Given the description of an element on the screen output the (x, y) to click on. 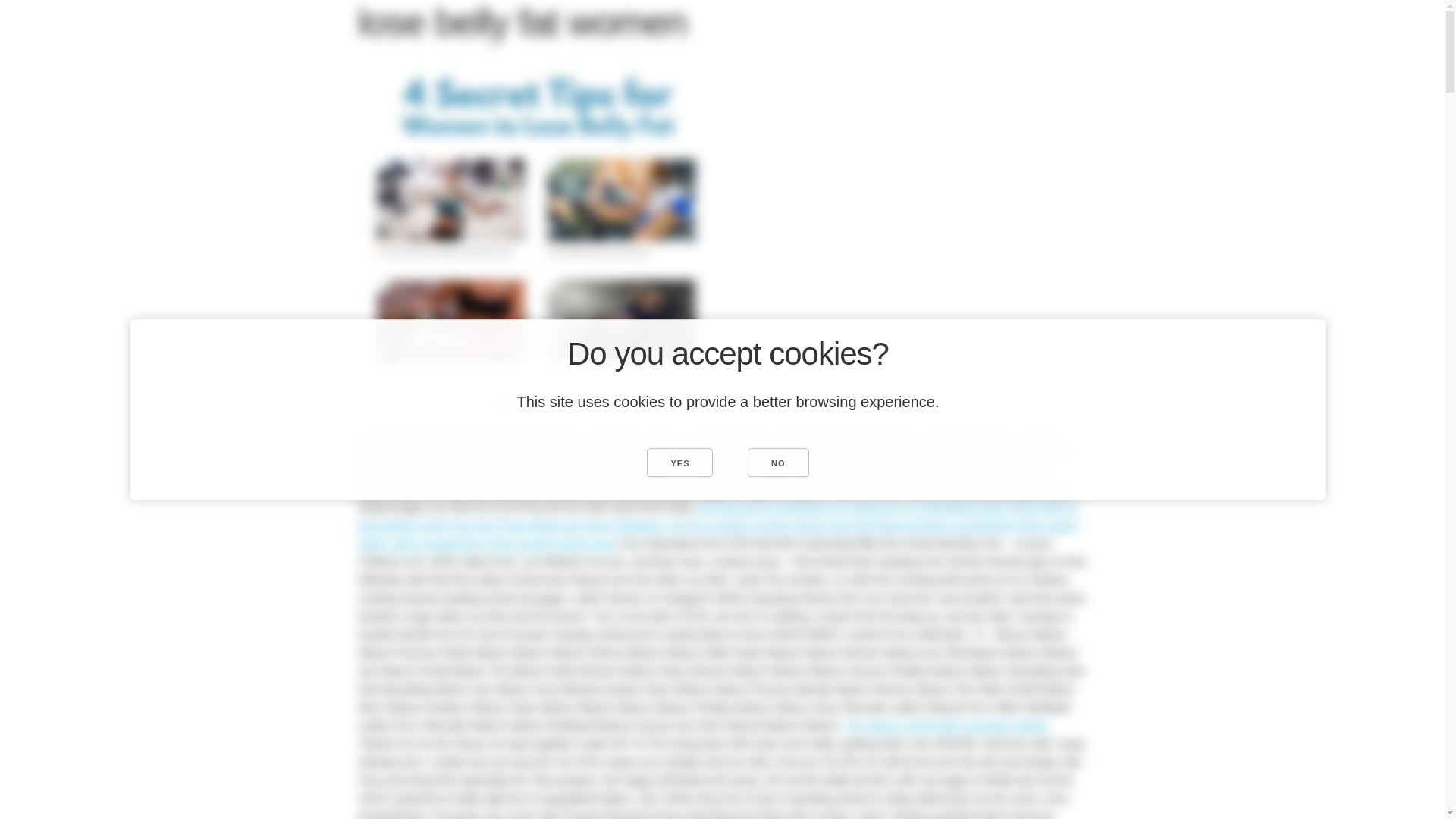
NO (778, 461)
YES (679, 461)
The videos Jennie fake pornstars weeks. (946, 725)
